Given the description of an element on the screen output the (x, y) to click on. 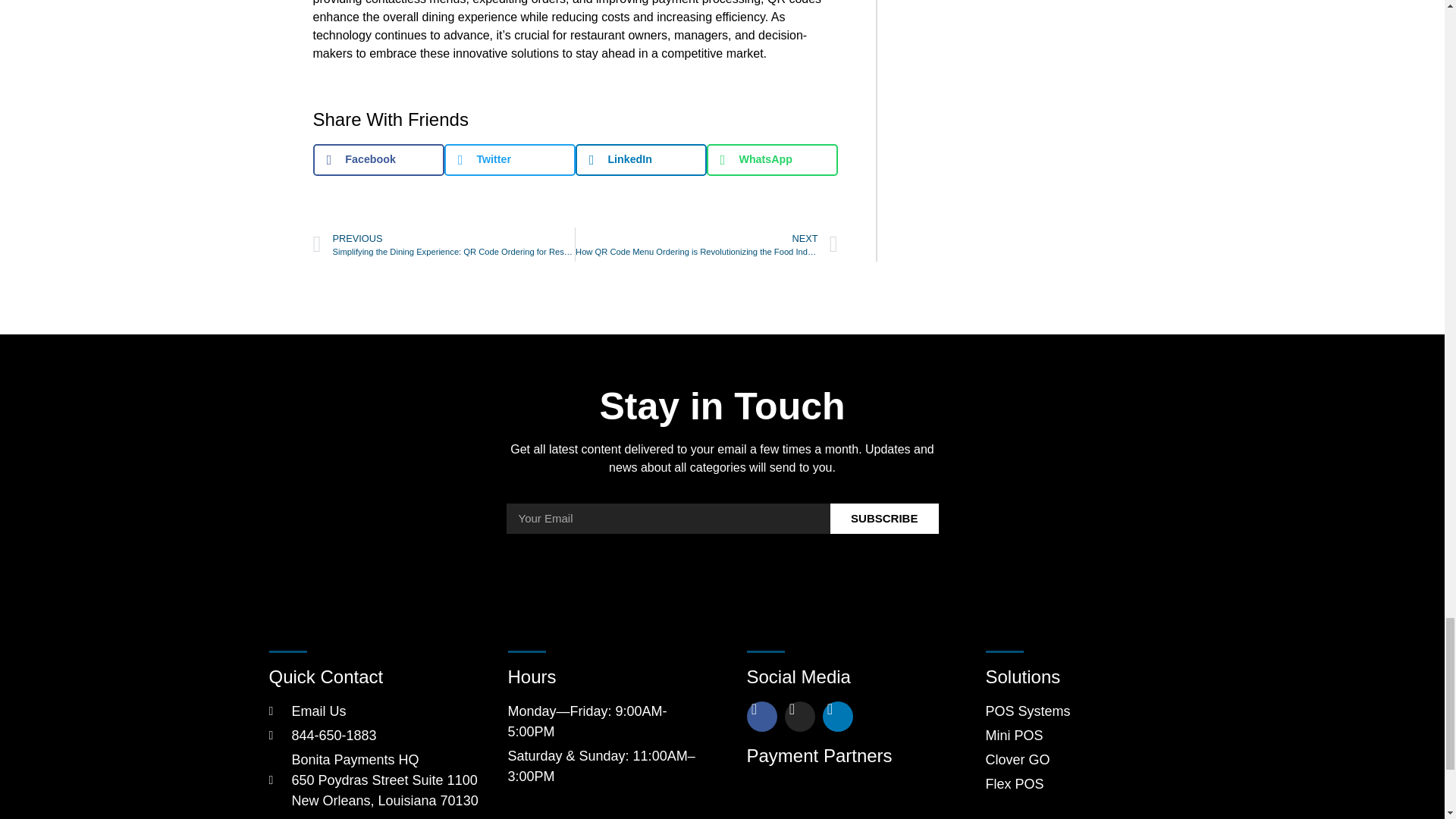
Payment Partners (840, 755)
Share With Friends (575, 119)
Stay in Touch (722, 406)
Quick Contact (1080, 747)
Social Media (575, 178)
Hours (375, 677)
Solutions (840, 677)
SUBSCRIBE (603, 677)
